Given the description of an element on the screen output the (x, y) to click on. 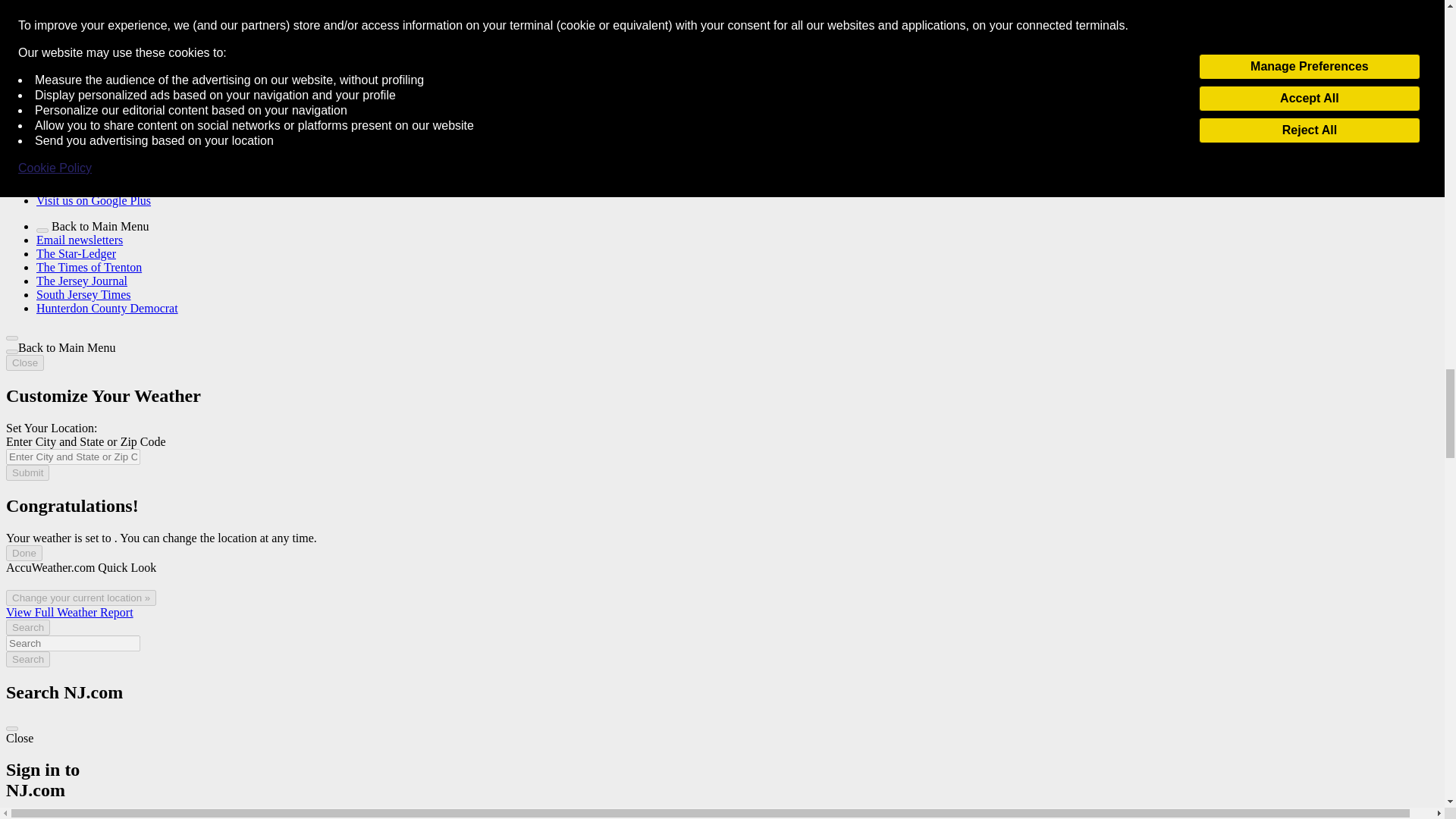
Submit (27, 472)
Search (72, 643)
Search (27, 659)
Done (23, 553)
